Given the description of an element on the screen output the (x, y) to click on. 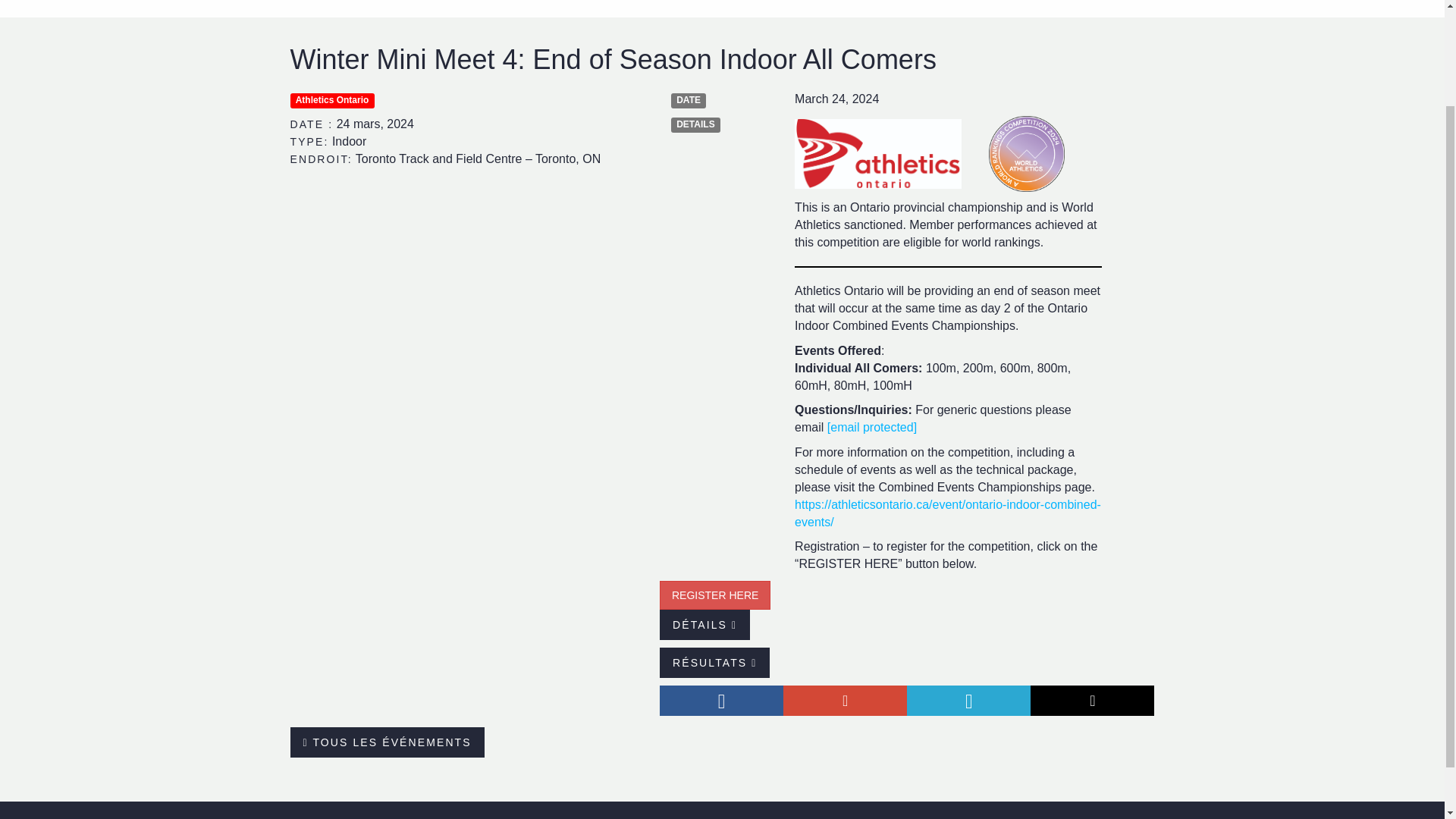
Twitter (968, 700)
Partager (968, 700)
Partager (1092, 700)
COLOMBIE-BRITANNIQUE (693, 8)
Facebook (721, 700)
MANITOBA (919, 8)
Courriel (1092, 700)
Athletics Ontario (331, 100)
ENGLISH (1123, 8)
Partager (845, 700)
